Given the description of an element on the screen output the (x, y) to click on. 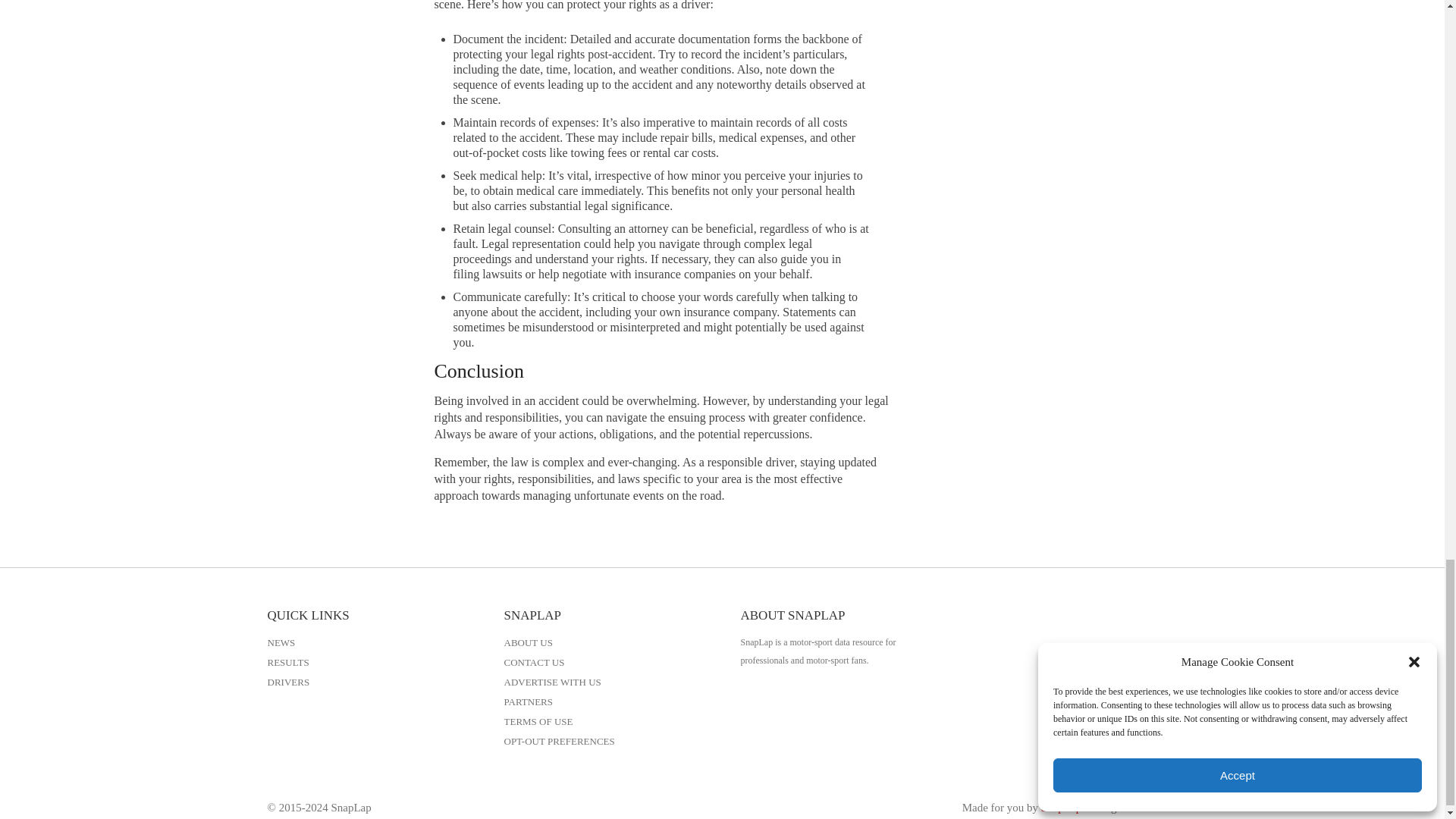
NEWS (280, 642)
DRIVERS (287, 681)
RESULTS (287, 662)
